Given the description of an element on the screen output the (x, y) to click on. 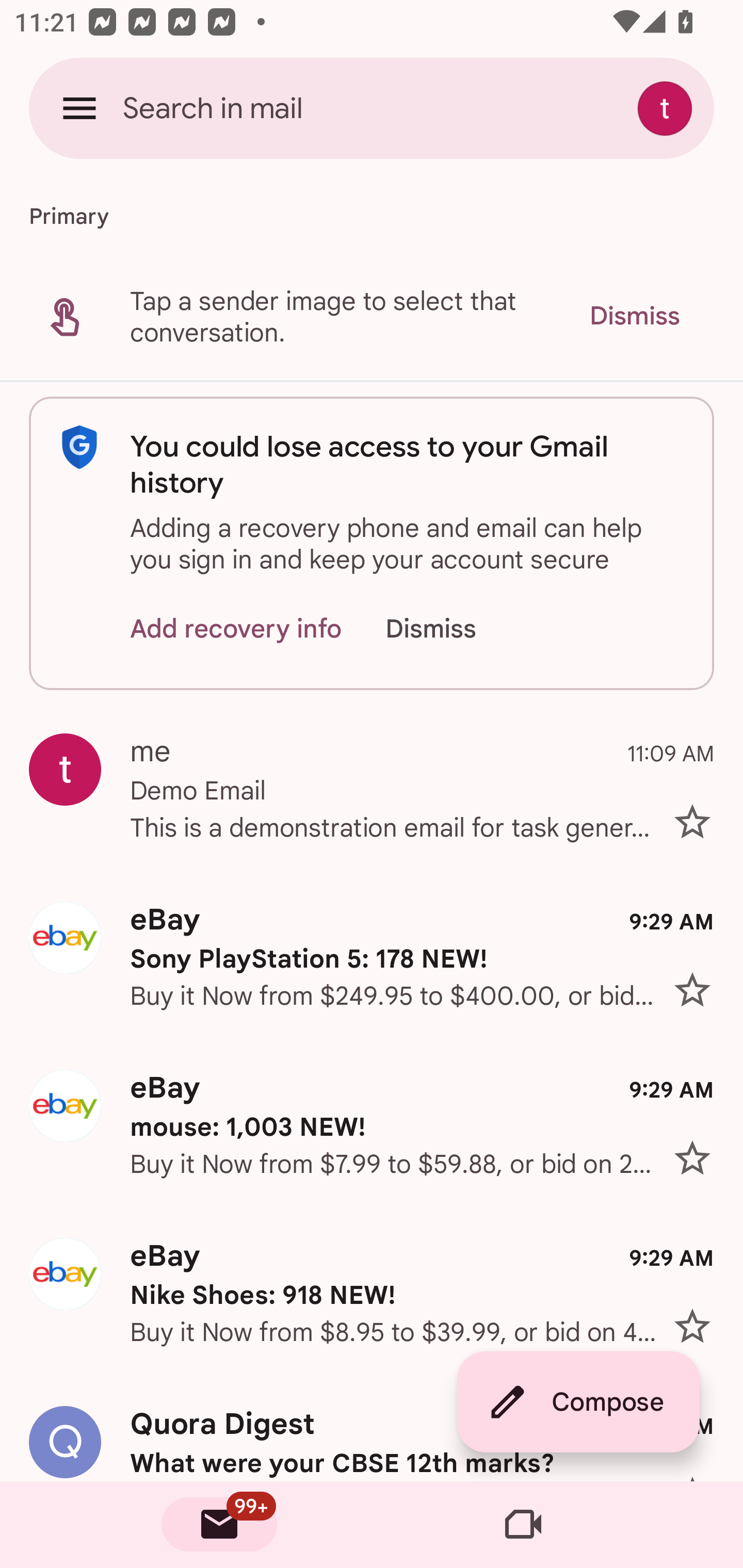
Open navigation drawer (79, 108)
Dismiss Dismiss tip (634, 315)
Add recovery info (235, 628)
Dismiss (449, 628)
Compose (577, 1401)
Meet (523, 1524)
